Given the description of an element on the screen output the (x, y) to click on. 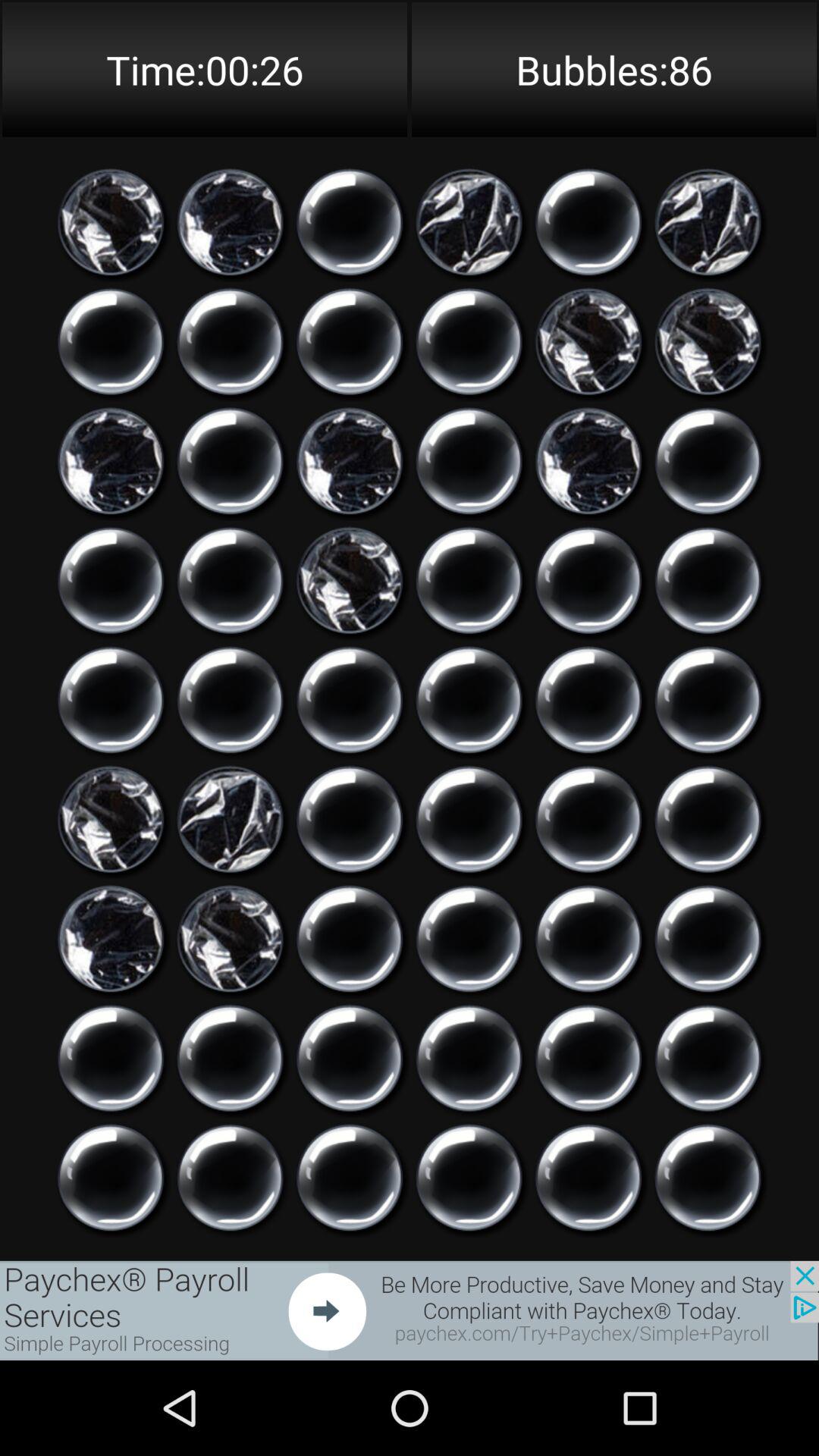
option (349, 819)
